Given the description of an element on the screen output the (x, y) to click on. 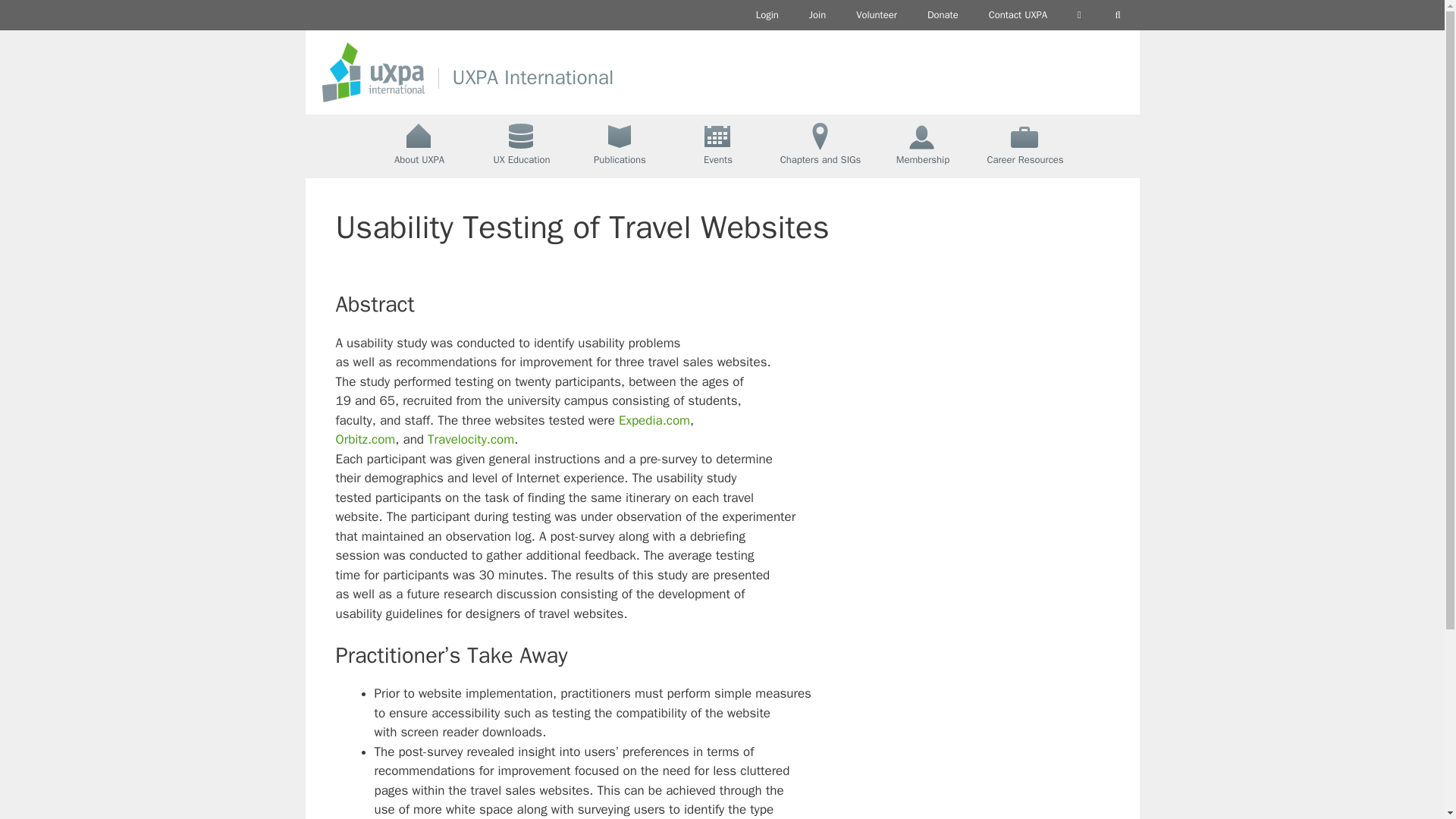
Login (767, 15)
View your shopping cart (1079, 15)
About UXPA (419, 145)
UXPA International (531, 77)
Volunteer (876, 15)
Search (1118, 15)
Donate (943, 15)
Contact UXPA (1018, 15)
Publications (619, 145)
UX Education (521, 145)
Search (1118, 15)
Events (718, 145)
Join (817, 15)
